Given the description of an element on the screen output the (x, y) to click on. 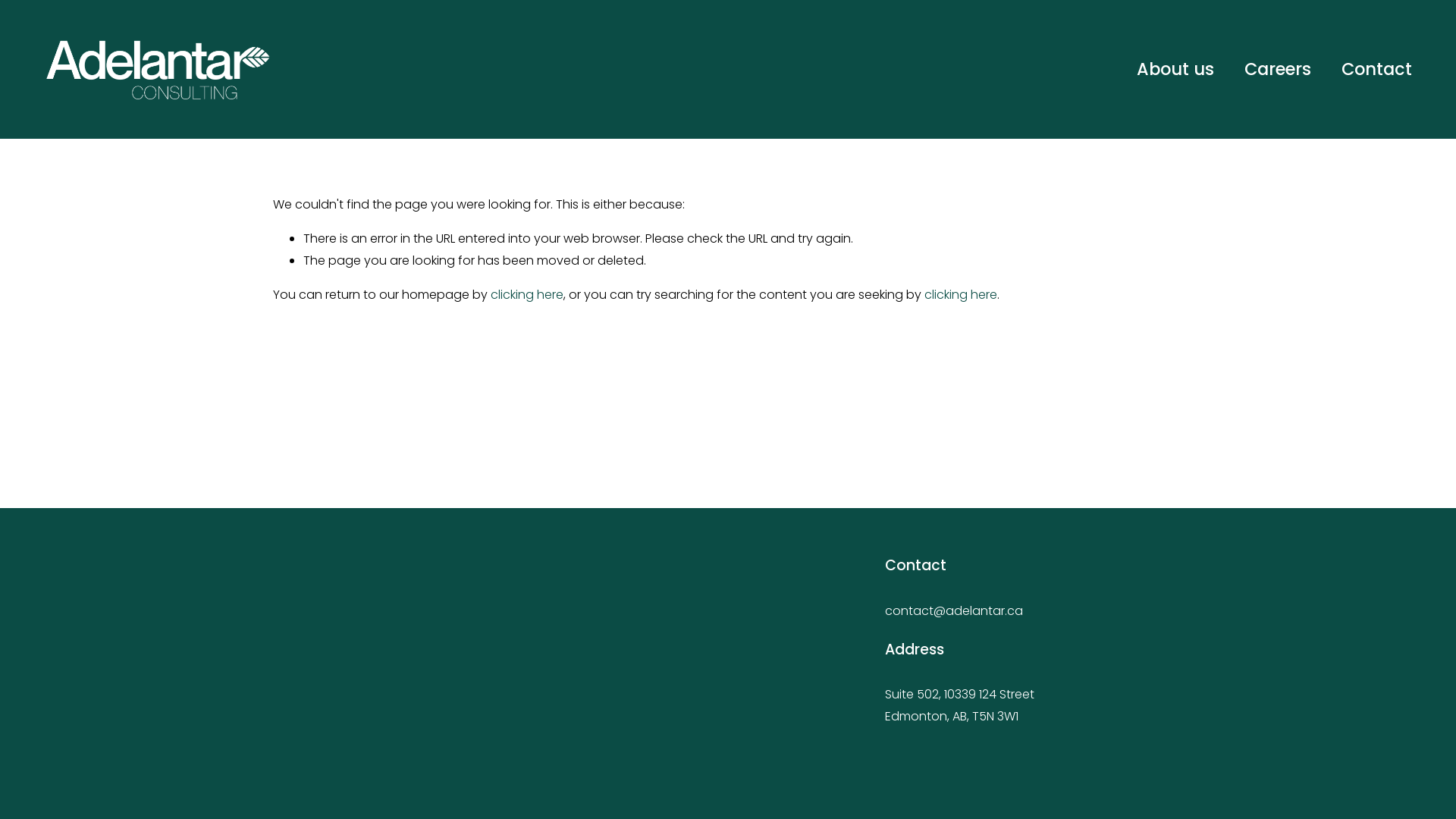
clicking here Element type: text (960, 294)
Contact Element type: text (1376, 69)
clicking here Element type: text (526, 294)
About us Element type: text (1175, 69)
Careers Element type: text (1277, 69)
